Given the description of an element on the screen output the (x, y) to click on. 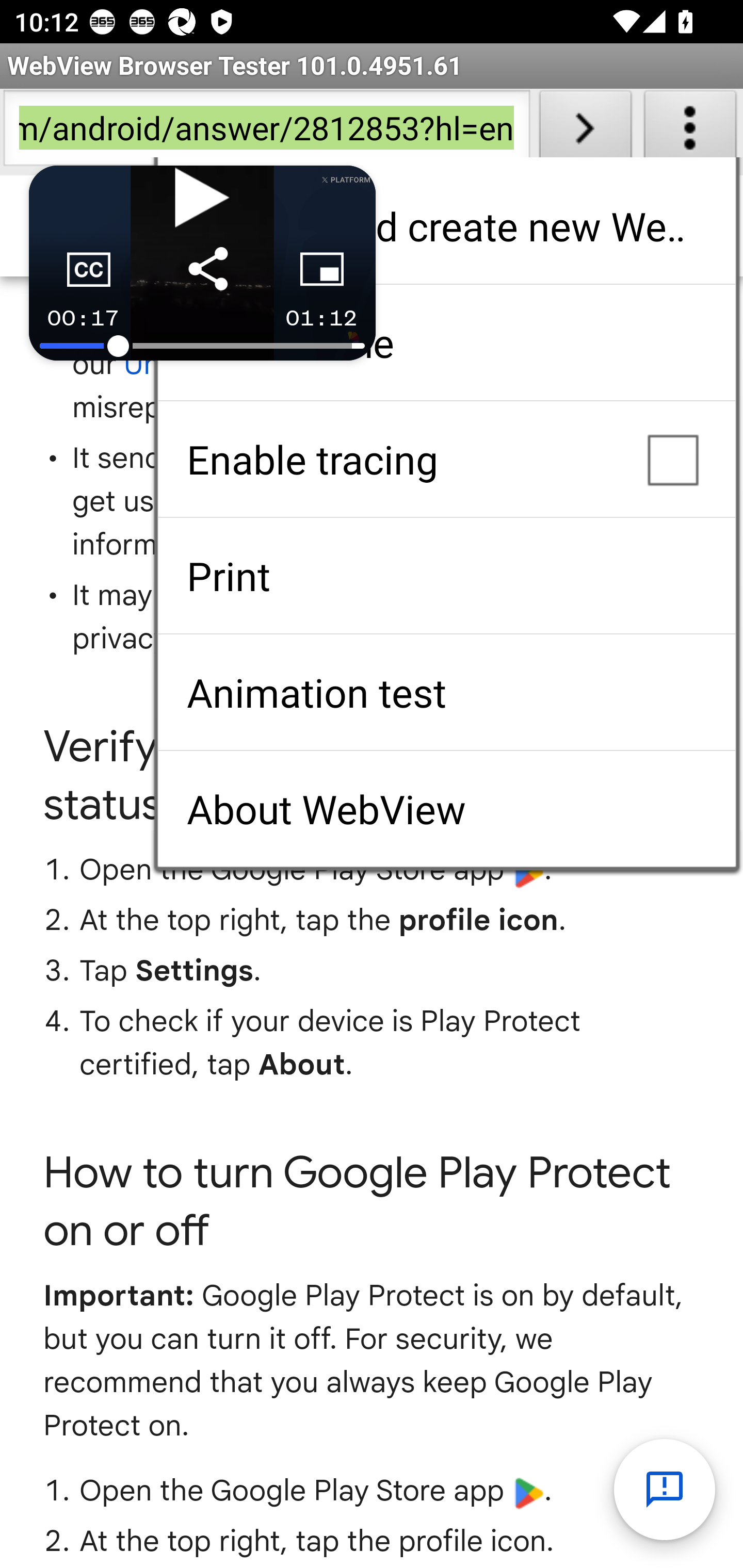
Enable tracing (446, 459)
Print (446, 575)
Animation test (446, 692)
About WebView (446, 809)
